Given the description of an element on the screen output the (x, y) to click on. 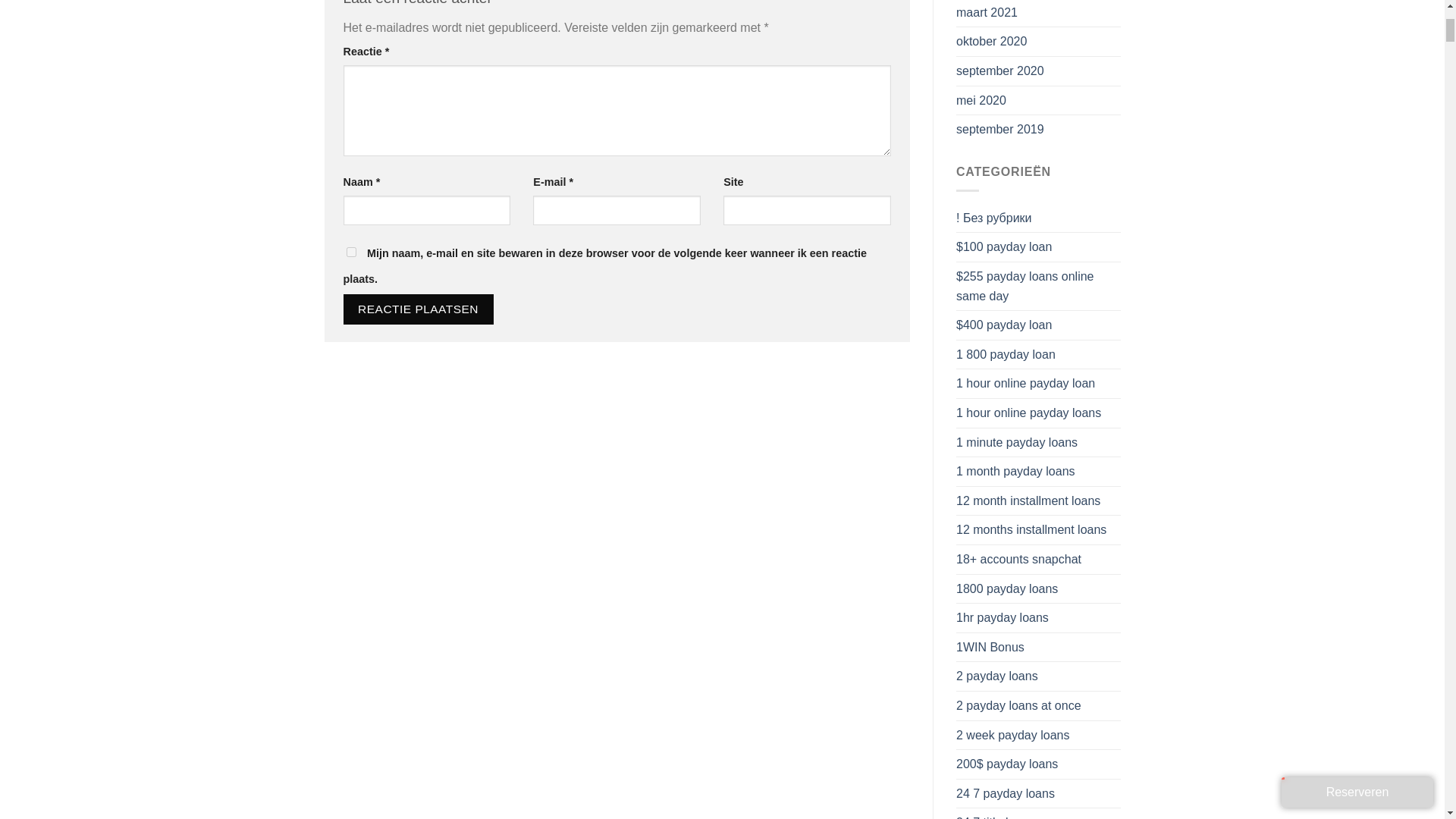
Reactie plaatsen (417, 308)
Reactie plaatsen (417, 308)
yes (350, 252)
